Given the description of an element on the screen output the (x, y) to click on. 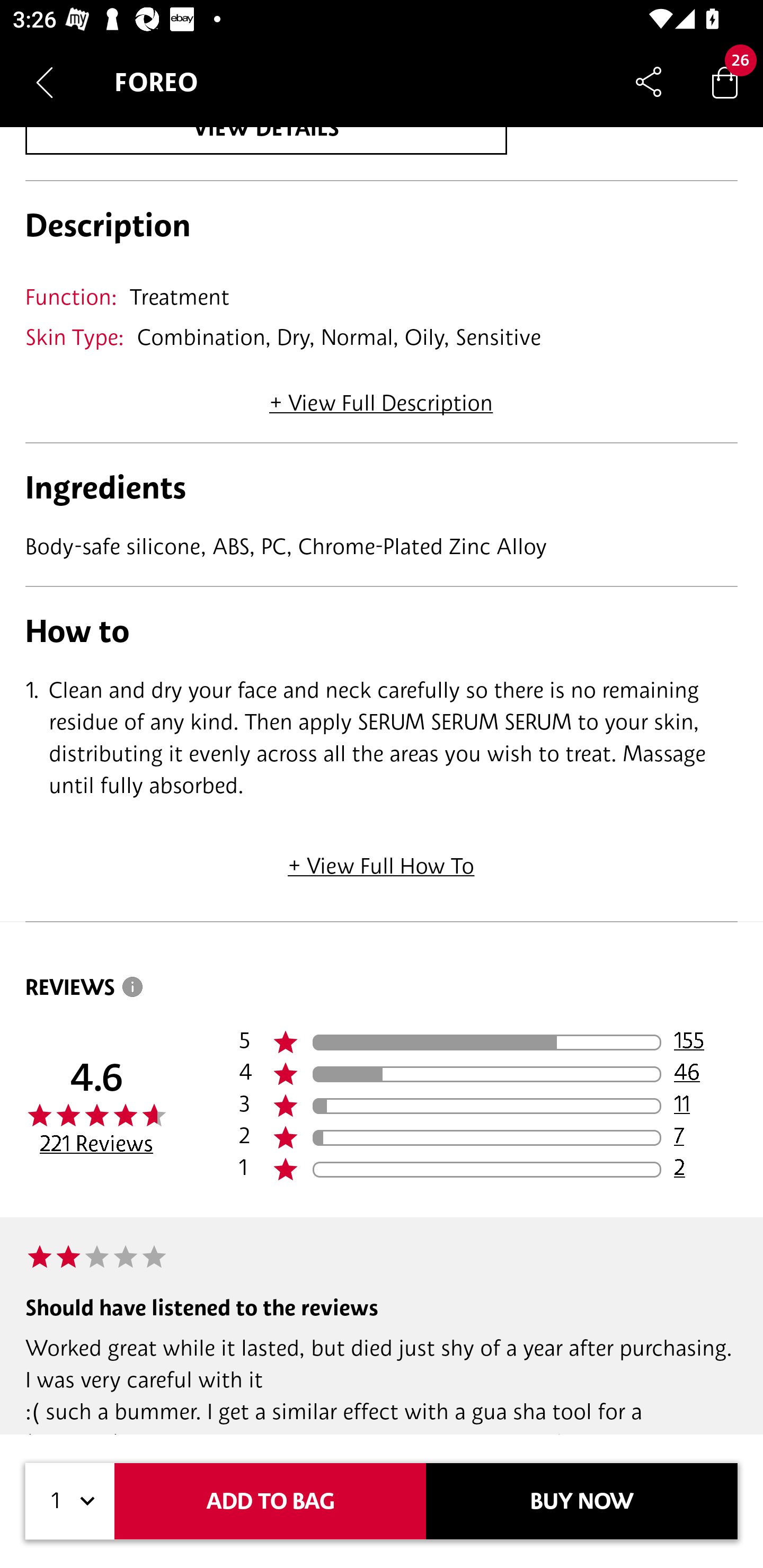
Navigate up (44, 82)
Share (648, 81)
Bag (724, 81)
VIEW DETAILS (266, 141)
+ View Full Description (380, 396)
+ View Full How To (381, 858)
5 70.0 155 (487, 1042)
4 20.0 46 (487, 1073)
3 4.0 11 (487, 1105)
2 3.0 7 (487, 1138)
221 Reviews (96, 1143)
1 0.0 2 (487, 1169)
1 (69, 1500)
ADD TO BAG (269, 1500)
BUY NOW (581, 1500)
